Given the description of an element on the screen output the (x, y) to click on. 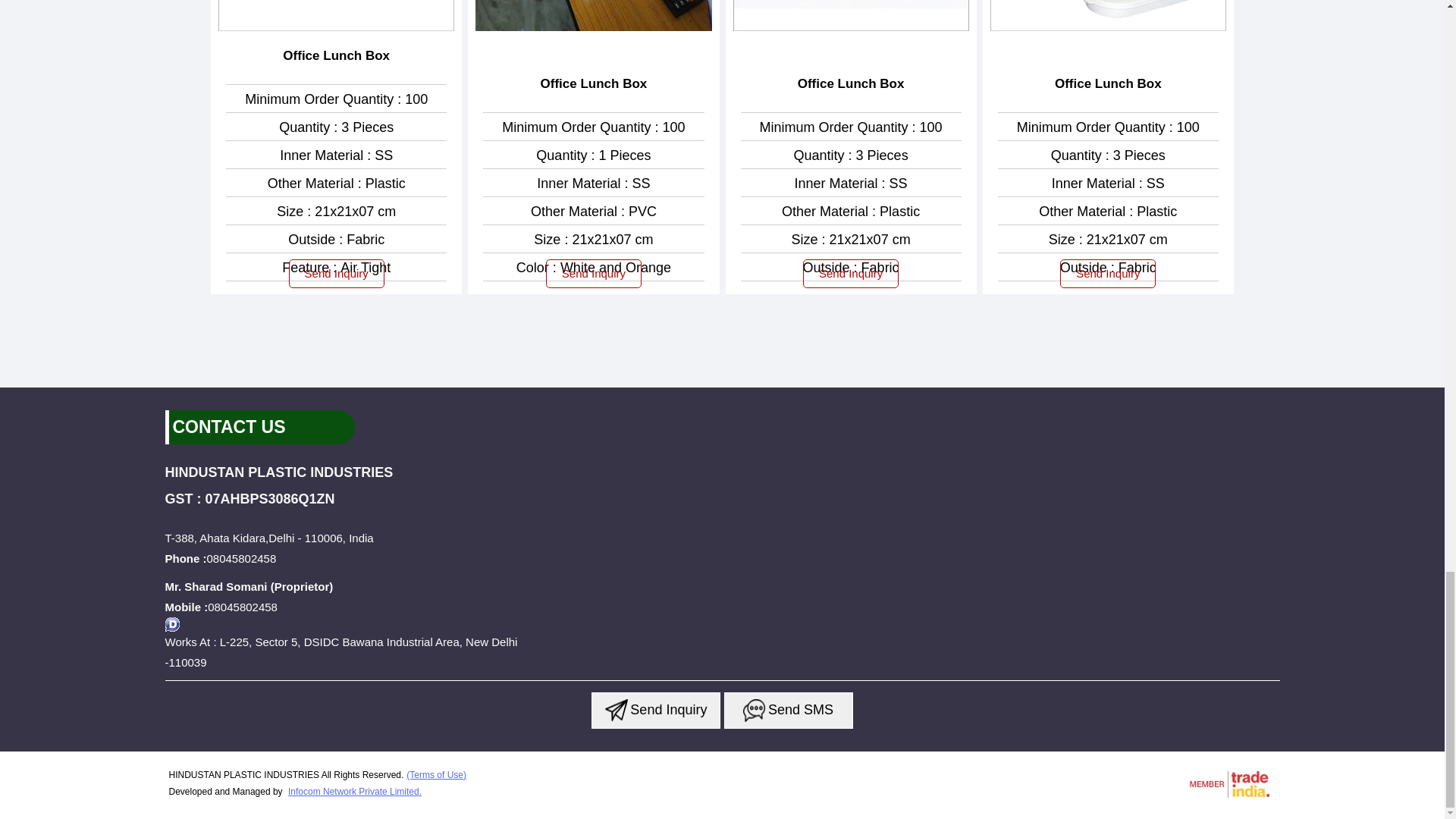
Office Lunch Box (1107, 84)
Send Inquiry (655, 709)
Office Lunch Box (850, 84)
Send Inquiry (594, 273)
Office Lunch Box (336, 55)
Accepts only Domestic Inquiries (172, 624)
Send Inquiry (753, 710)
Send Inquiry (616, 710)
Send Inquiry (1107, 273)
Office Lunch Box (593, 84)
